Given the description of an element on the screen output the (x, y) to click on. 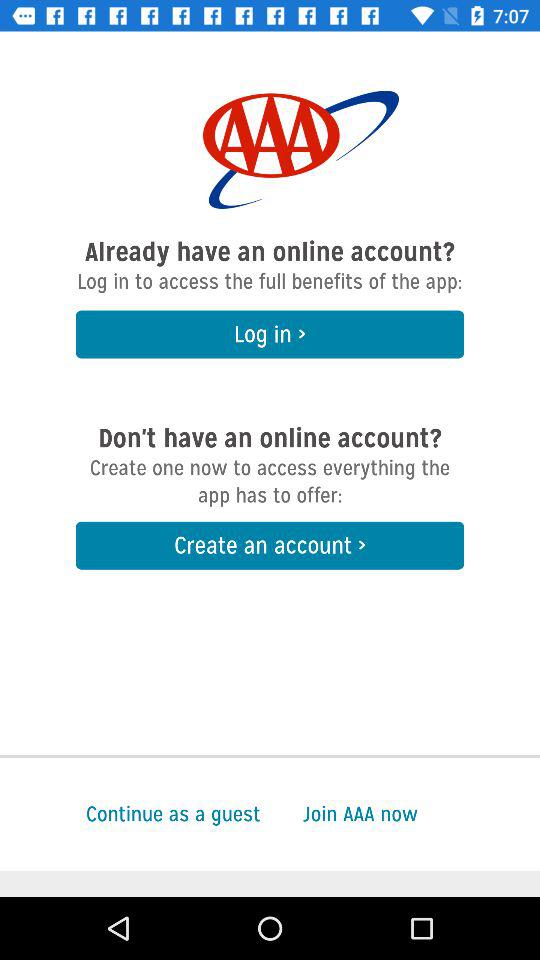
flip until the join aaa now item (421, 814)
